Given the description of an element on the screen output the (x, y) to click on. 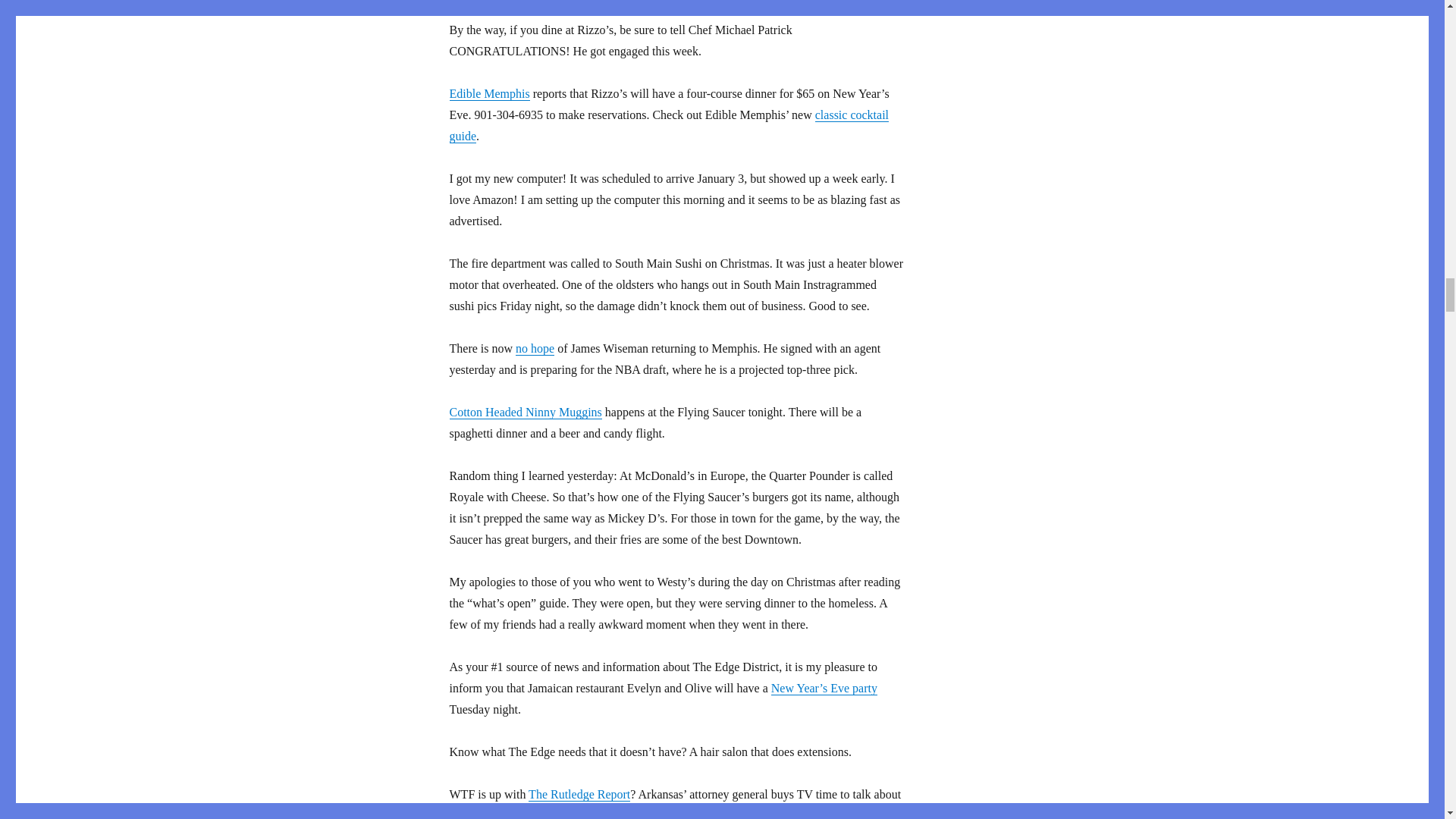
The Rutledge Report (579, 793)
classic cocktail guide (668, 125)
Cotton Headed Ninny Muggins (524, 411)
Edible Memphis (488, 92)
no hope (534, 348)
